Given the description of an element on the screen output the (x, y) to click on. 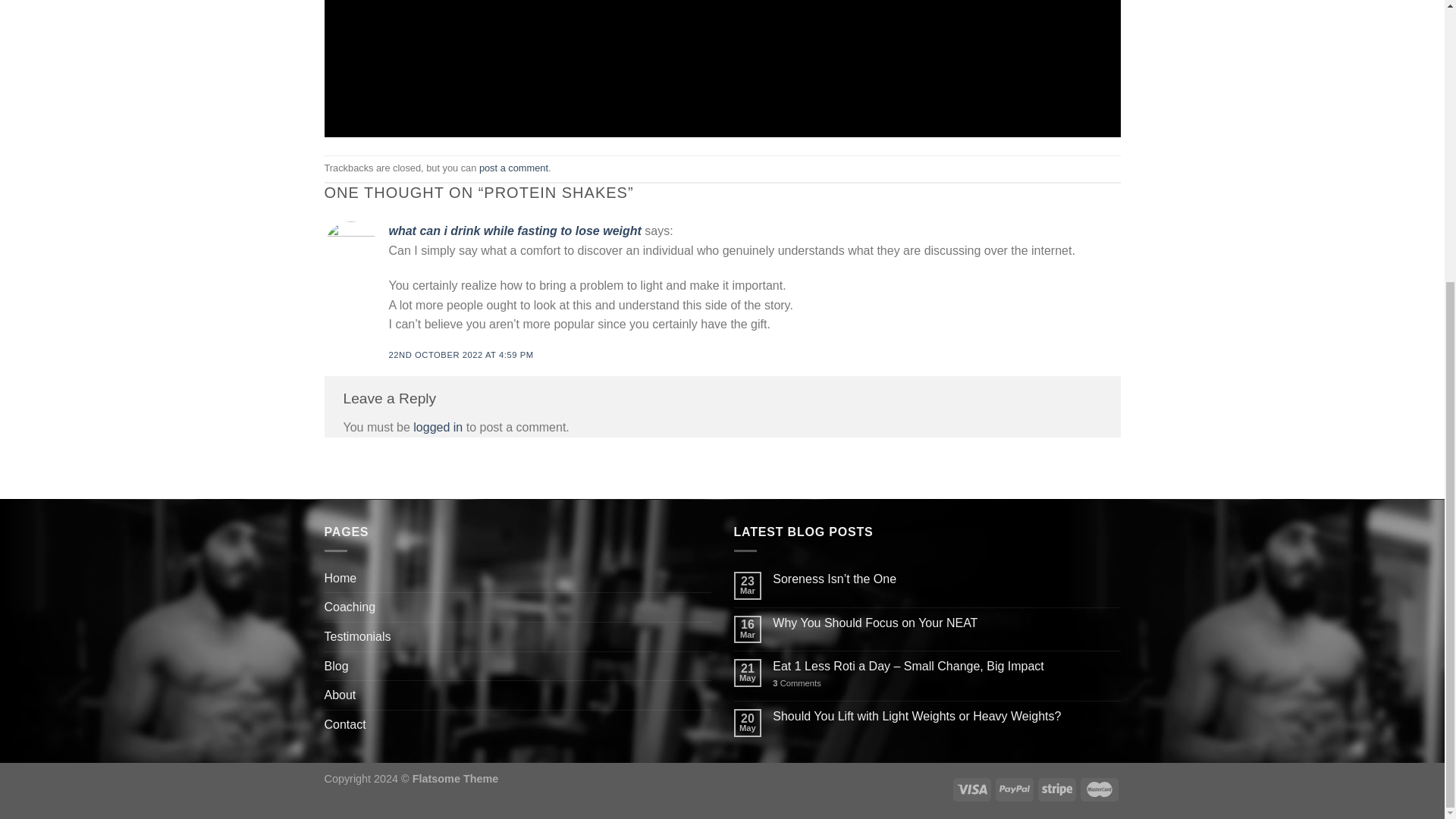
post a comment (513, 167)
logged in (438, 427)
About (340, 695)
Why You Should Focus on Your NEAT (946, 622)
Coaching (349, 606)
Should You Lift with Light Weights or Heavy Weights? (946, 716)
Contact (345, 724)
Why You Should Focus on Your NEAT (946, 622)
Should You Lift with Light Weights or Heavy Weights? (946, 716)
Post a comment (513, 167)
